Given the description of an element on the screen output the (x, y) to click on. 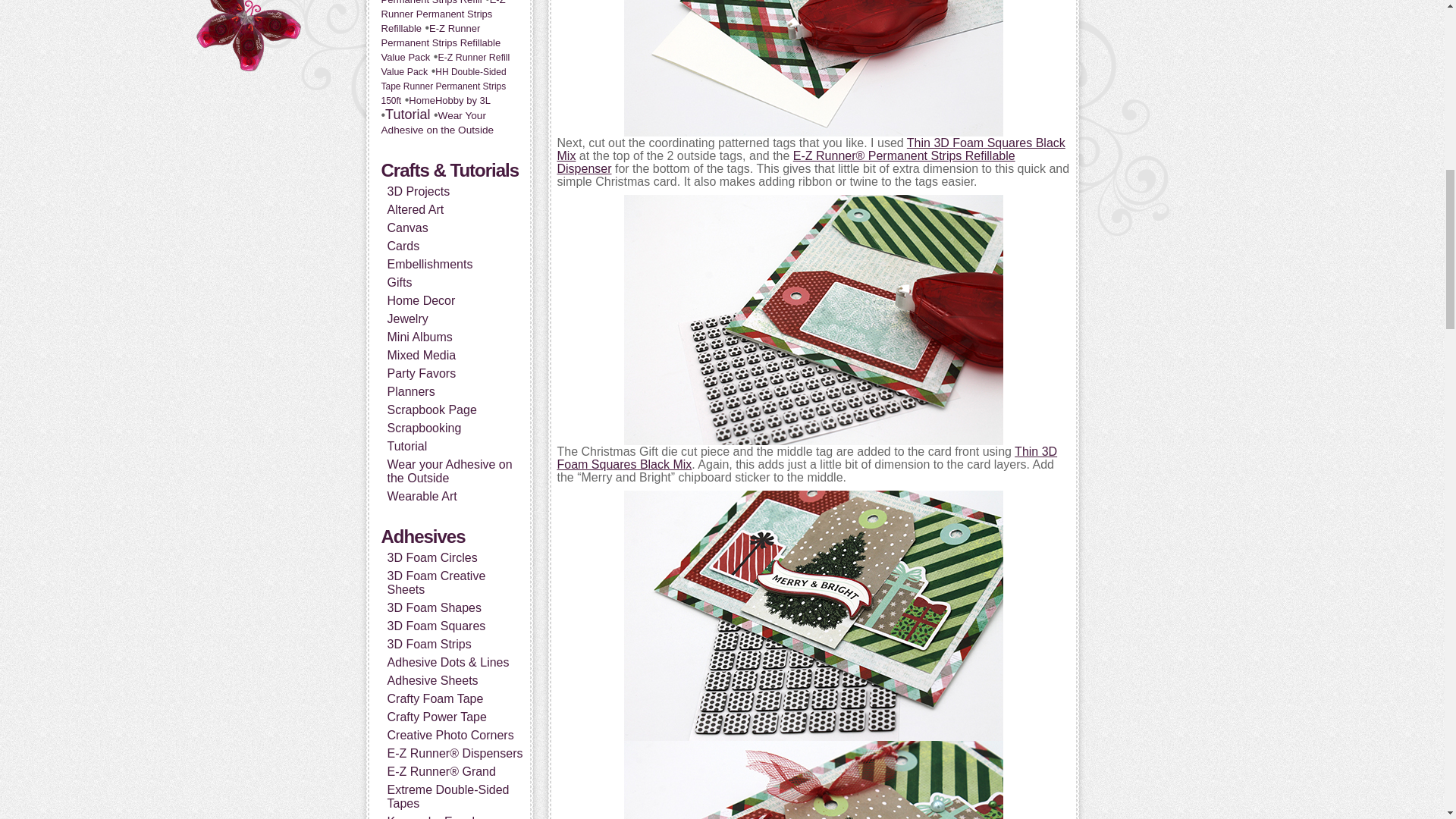
27 topics (442, 17)
27 topics (448, 2)
22 topics (444, 64)
27 topics (440, 42)
19 topics (442, 86)
